Given the description of an element on the screen output the (x, y) to click on. 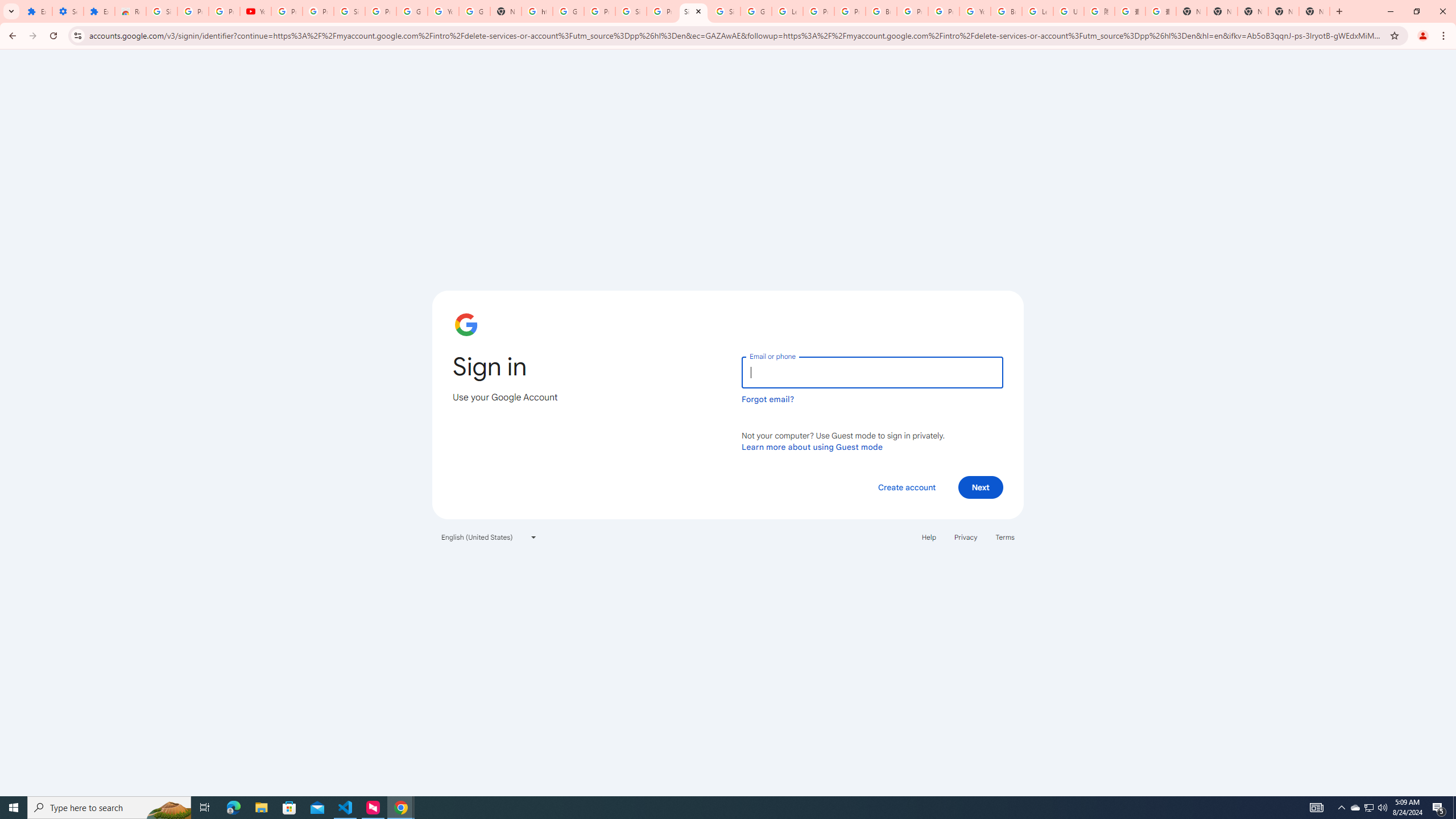
English (United States) (489, 536)
Create account (905, 486)
https://scholar.google.com/ (536, 11)
New Tab (1190, 11)
Extensions (36, 11)
